Given the description of an element on the screen output the (x, y) to click on. 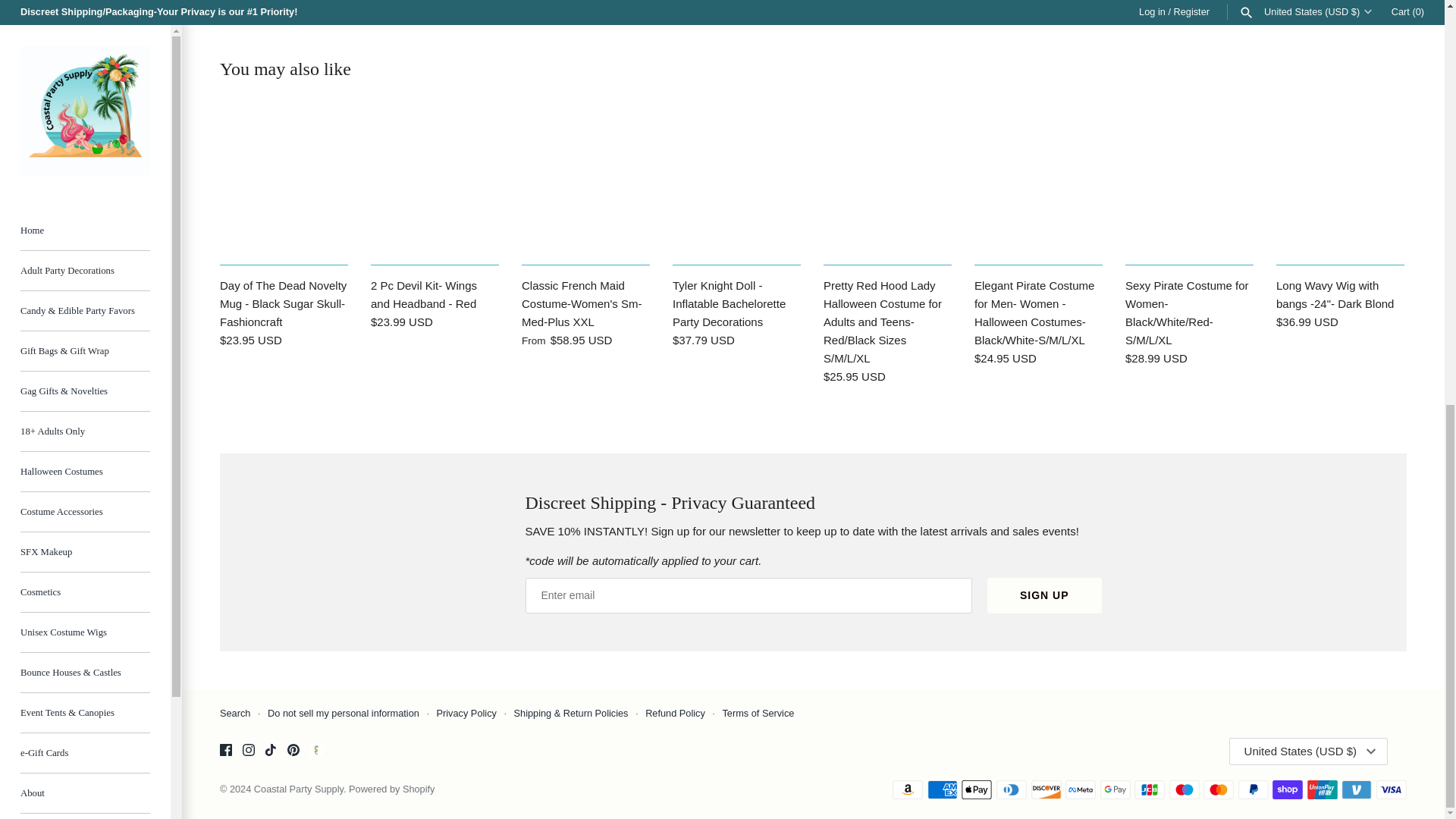
Classic French Maid Costume-Women's Sm-Med-Plus XXL (585, 183)
Meta Pay (1080, 789)
Apple Pay (975, 789)
Discover (1045, 789)
Facebook (225, 749)
JCB (1149, 789)
Long Wavy Wig with bangs -24"- Dark Blond (1340, 183)
Shop Pay (1287, 789)
